Given the description of an element on the screen output the (x, y) to click on. 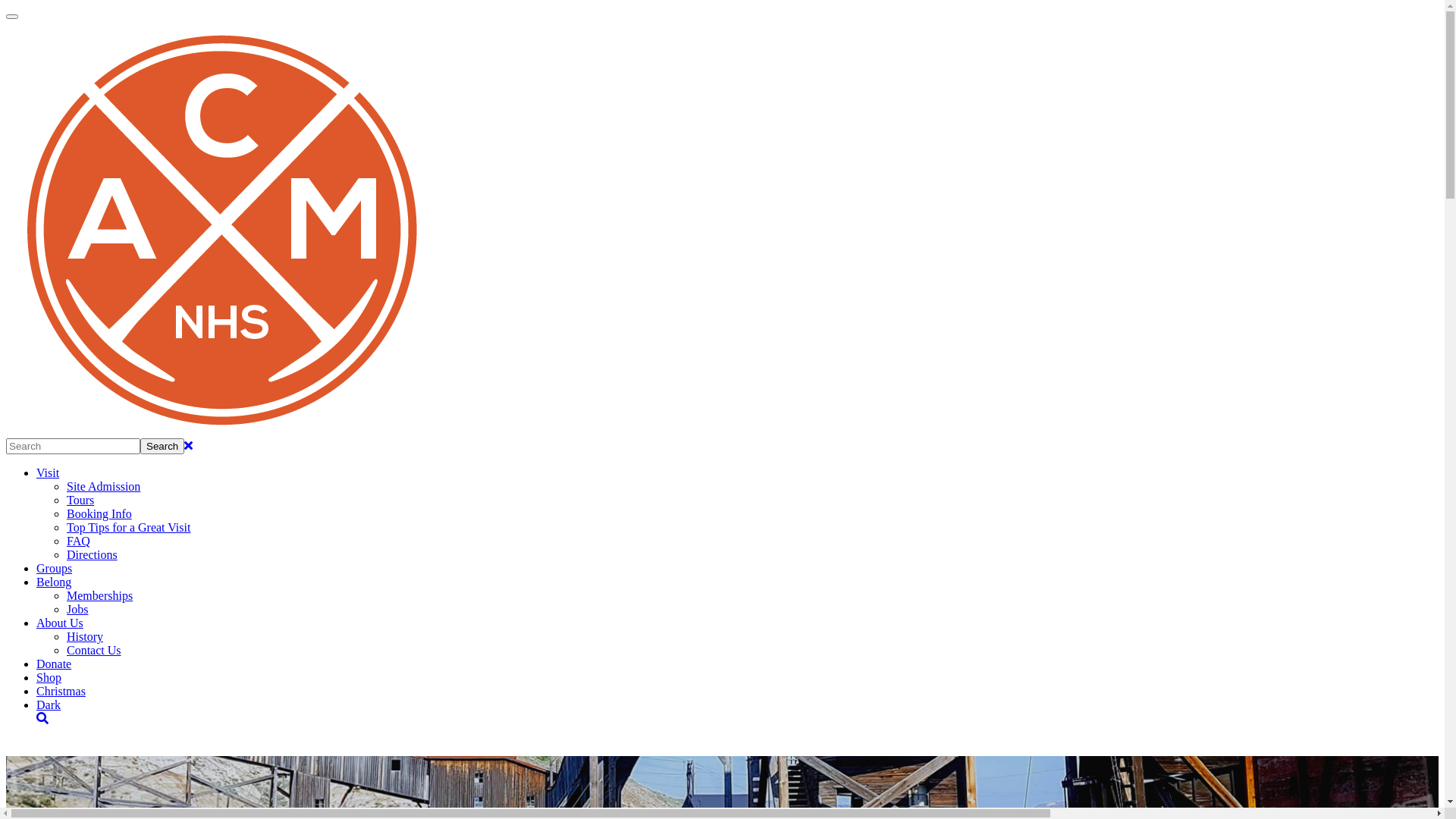
Memberships Element type: text (99, 595)
Search Element type: text (162, 446)
Christmas Element type: text (60, 690)
History Element type: text (84, 636)
FAQ Element type: text (78, 540)
Site Admission Element type: text (103, 486)
Dark Element type: text (48, 704)
Directions Element type: text (91, 554)
Visit Element type: text (47, 472)
Donate Element type: text (53, 663)
Shop Element type: text (48, 677)
About Us Element type: text (59, 622)
Belong Element type: text (53, 581)
Top Tips for a Great Visit Element type: text (128, 526)
Groups Element type: text (54, 567)
Jobs Element type: text (76, 608)
Contact Us Element type: text (93, 649)
Booking Info Element type: text (98, 513)
Tours Element type: text (80, 499)
